Given the description of an element on the screen output the (x, y) to click on. 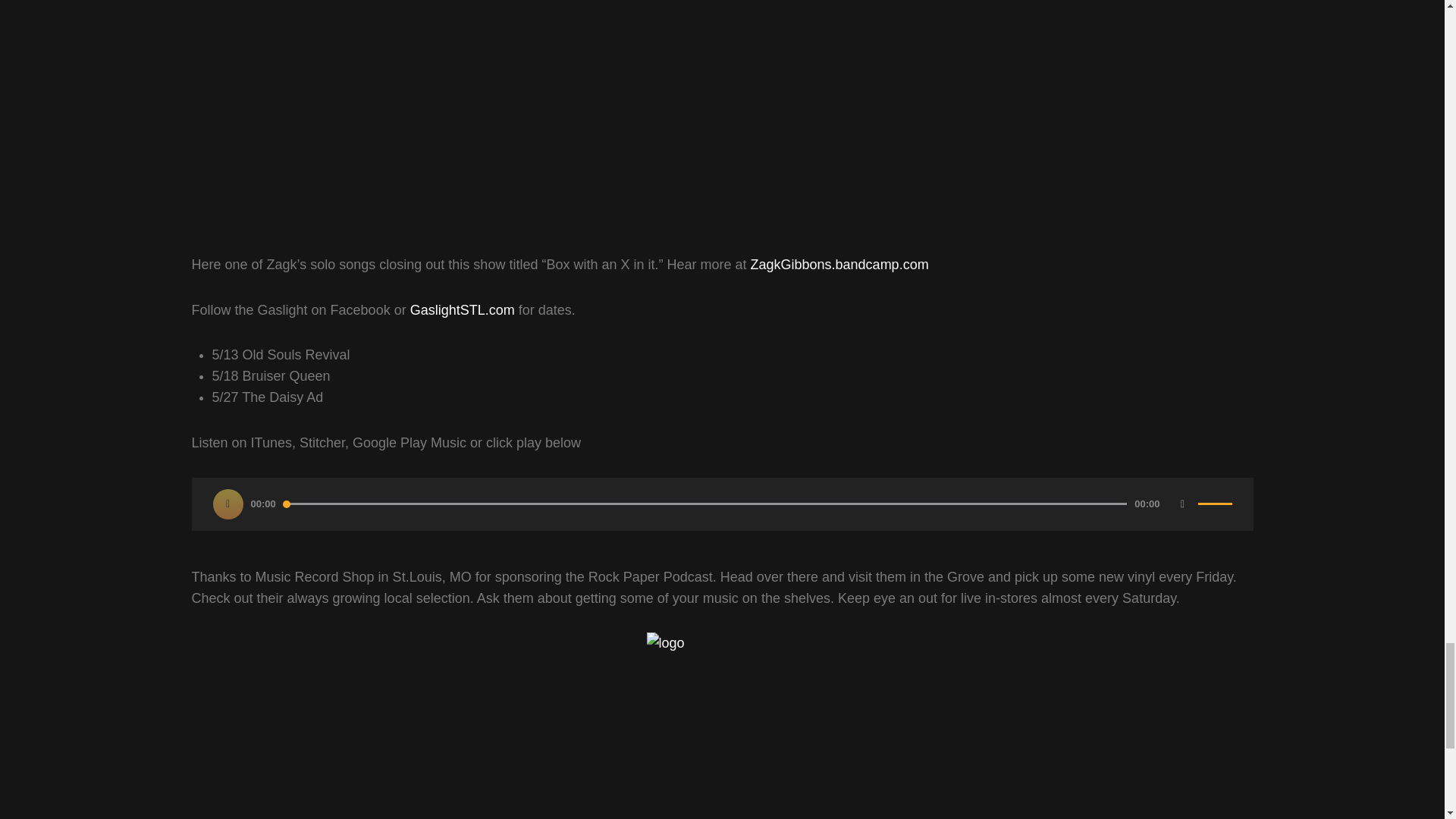
GaslightSTL.com (462, 309)
Play (227, 503)
ZagkGibbons.bandcamp.com (839, 264)
Mute (1182, 503)
